Given the description of an element on the screen output the (x, y) to click on. 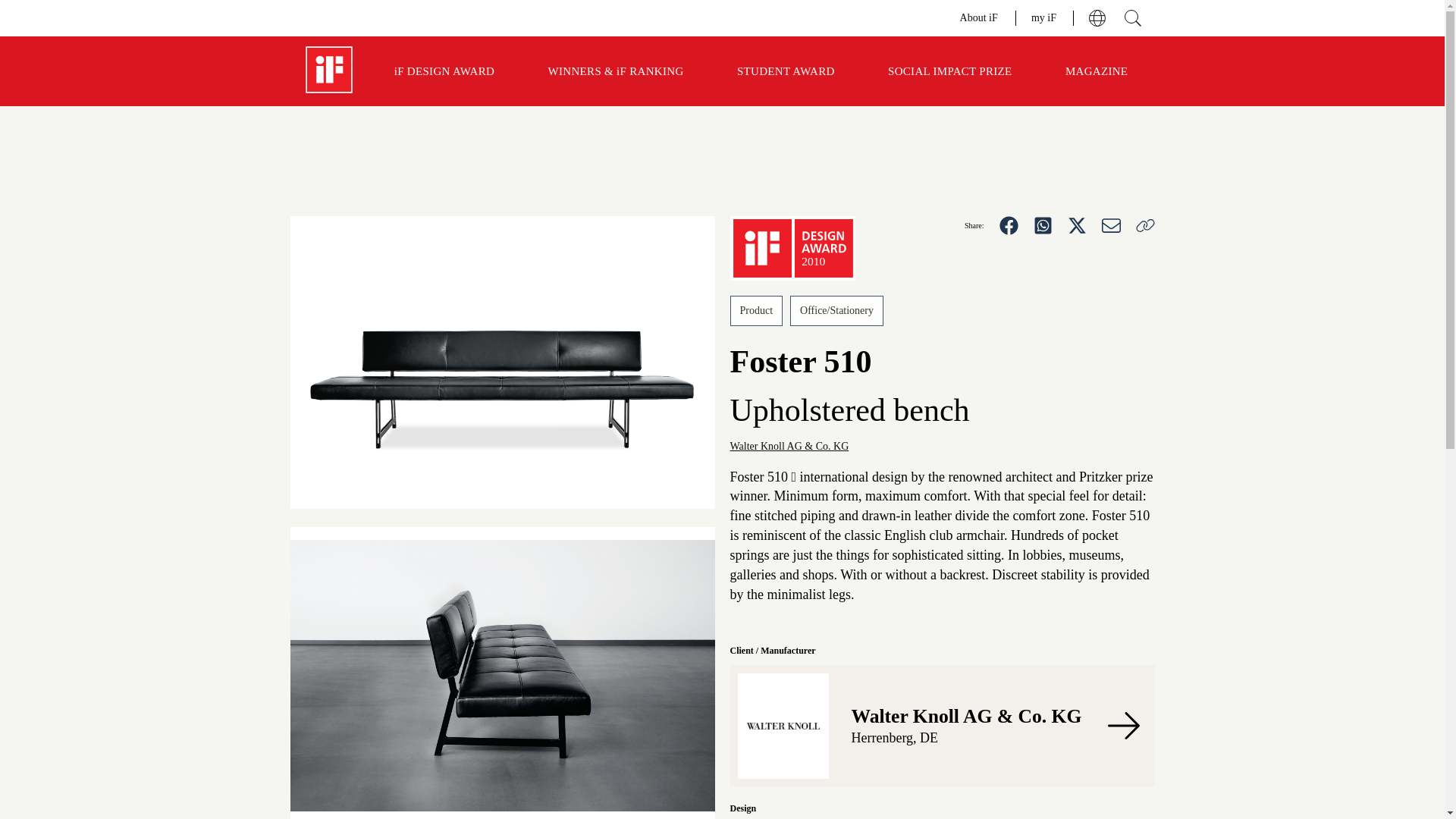
About iF (979, 16)
my iF (1044, 16)
2010 (791, 248)
